Given the description of an element on the screen output the (x, y) to click on. 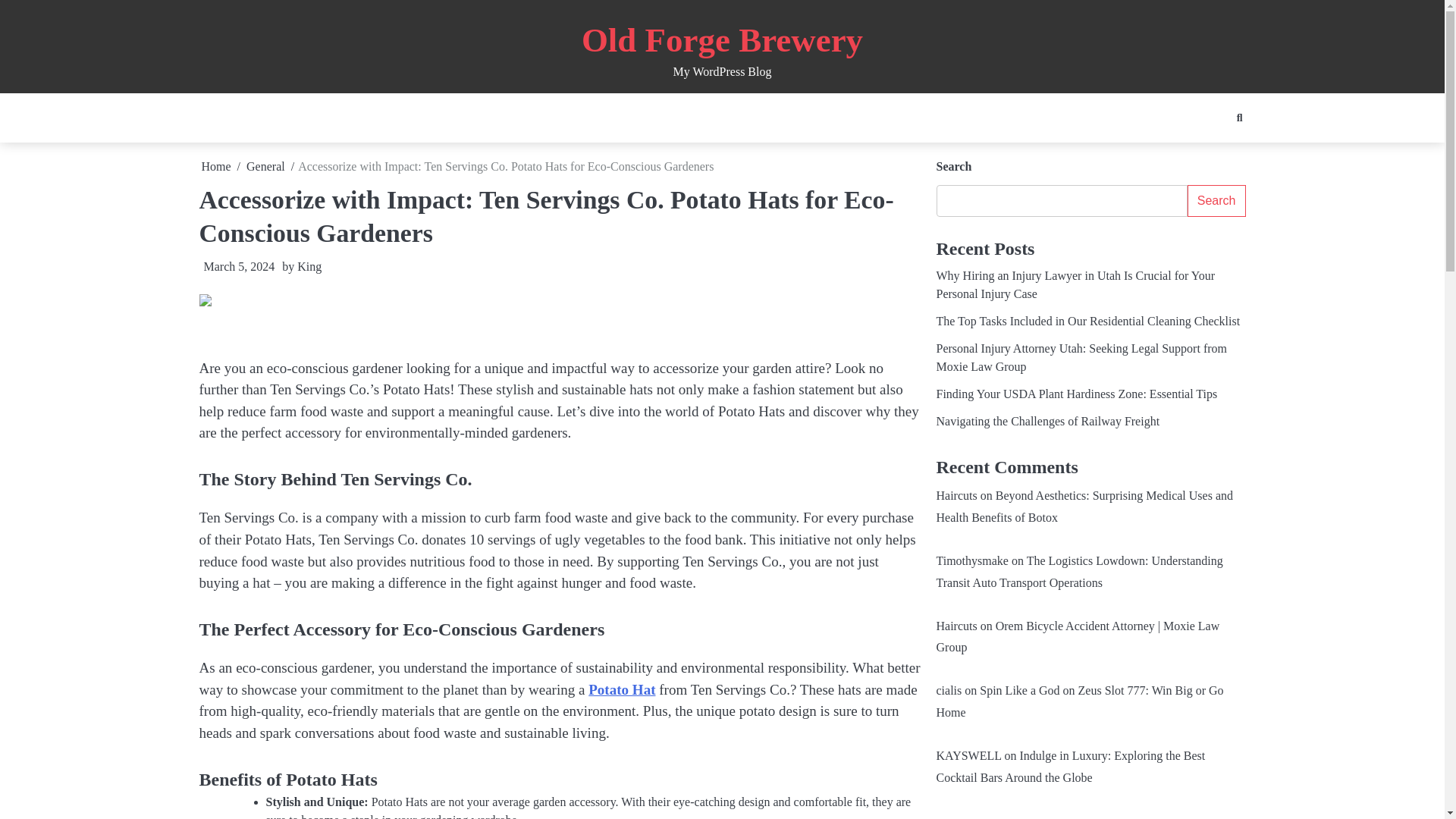
Search (1210, 149)
Finding Your USDA Plant Hardiness Zone: Essential Tips (1076, 393)
General (265, 165)
The Top Tasks Included in Our Residential Cleaning Checklist (1088, 320)
Spin Like a God on Zeus Slot 777: Win Big or Go Home (1079, 701)
Haircuts (956, 495)
cialis (948, 689)
